Given the description of an element on the screen output the (x, y) to click on. 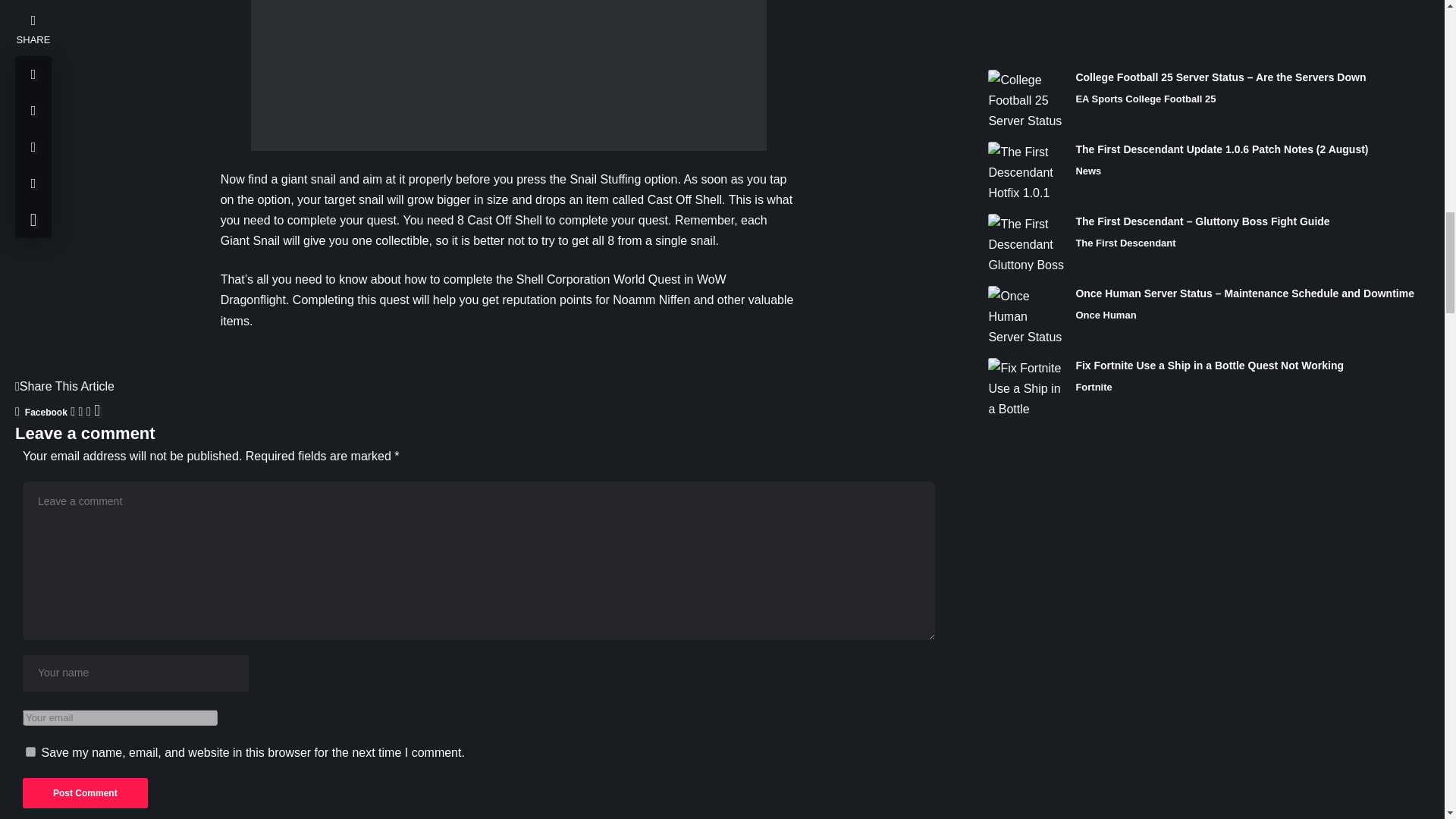
Post Comment (85, 793)
yes (30, 751)
